Given the description of an element on the screen output the (x, y) to click on. 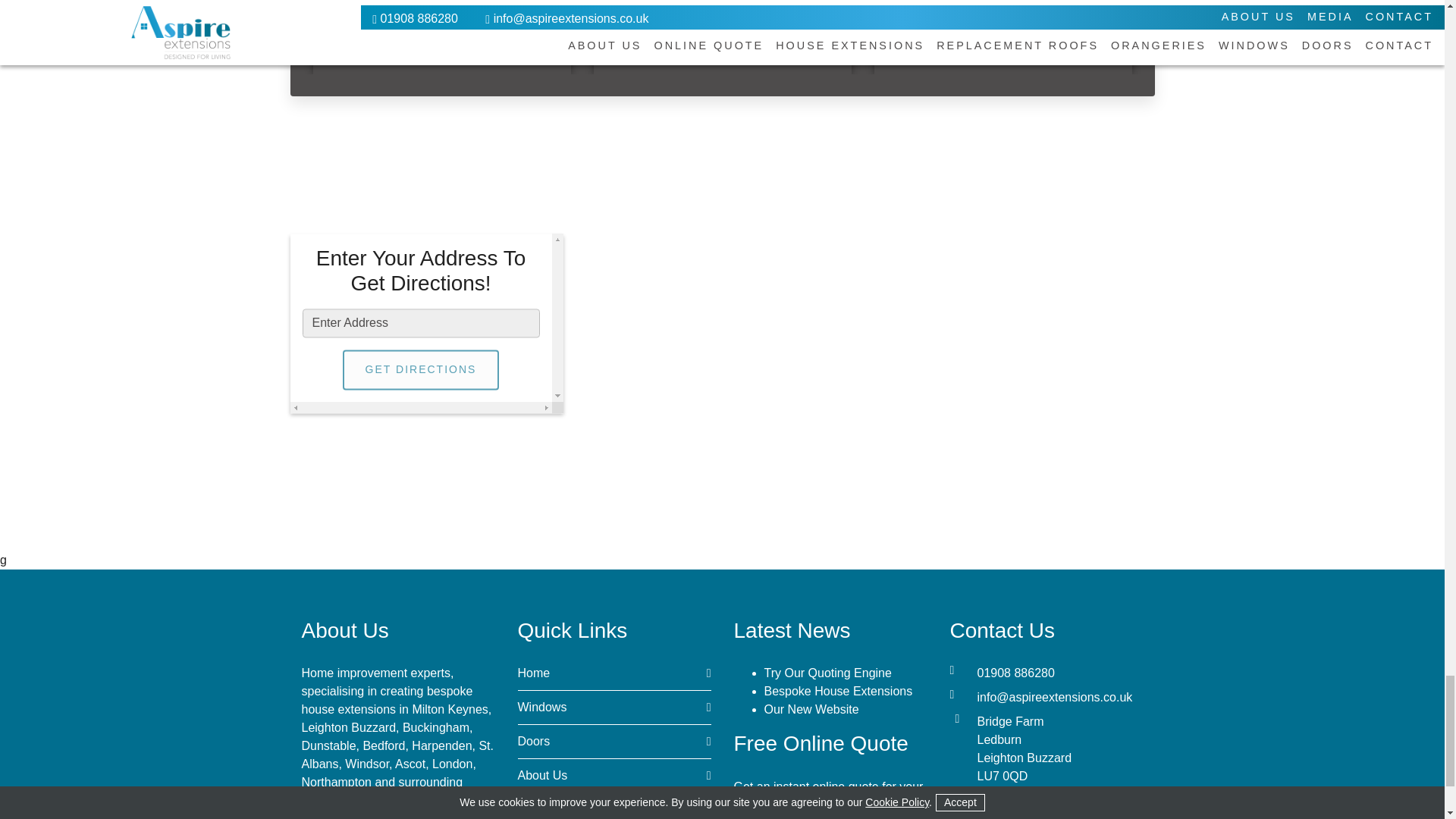
Kitchen Extensions (1002, 37)
Get Directions (420, 369)
Orangeries (721, 37)
Lantern Roofs (441, 37)
